Given the description of an element on the screen output the (x, y) to click on. 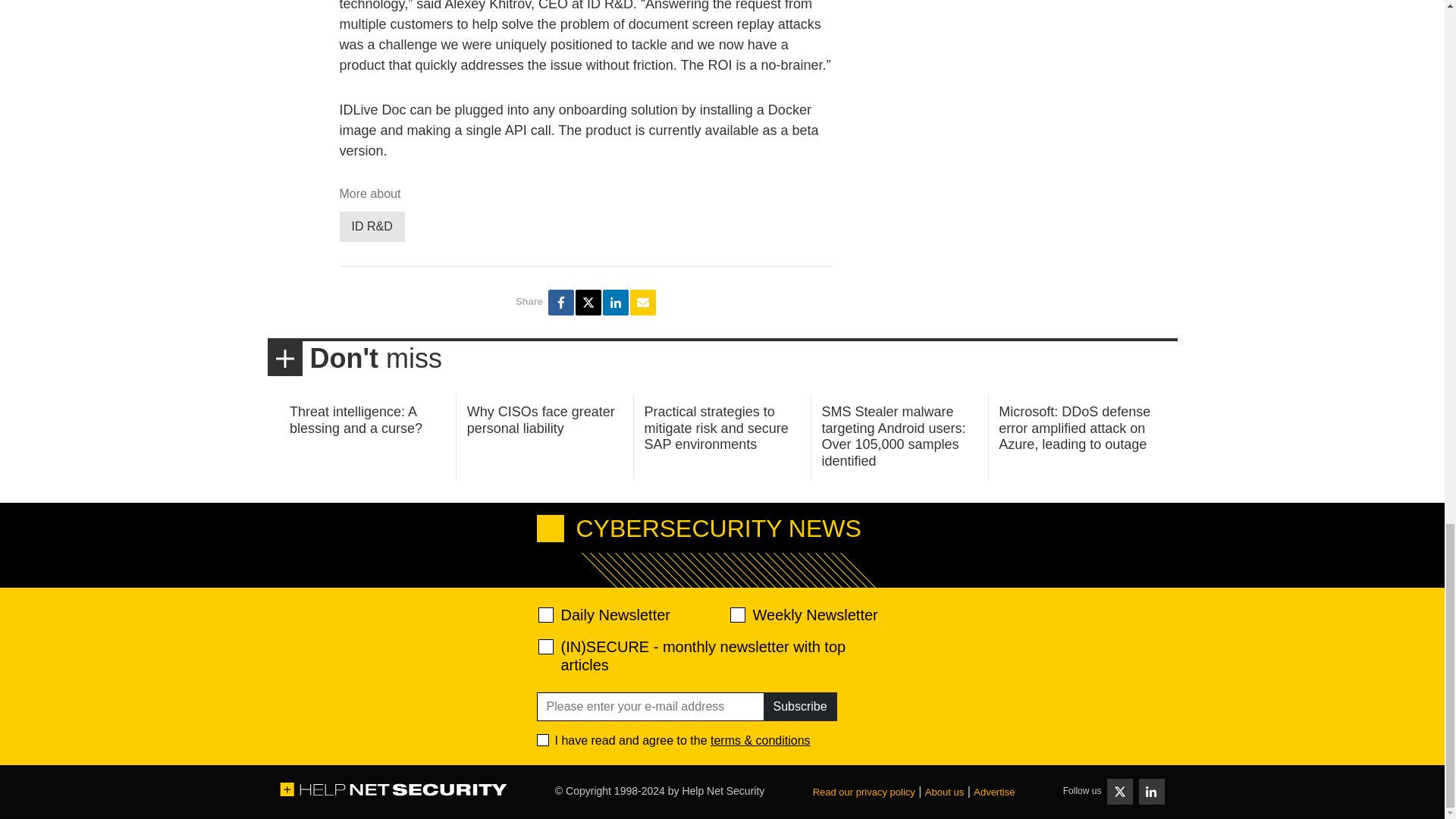
1 (542, 739)
Why CISOs face greater personal liability (540, 419)
d2d471aafa (736, 613)
520ac2f639 (545, 613)
Threat intelligence: A blessing and a curse? (355, 419)
28abe5d9ef (545, 645)
